Given the description of an element on the screen output the (x, y) to click on. 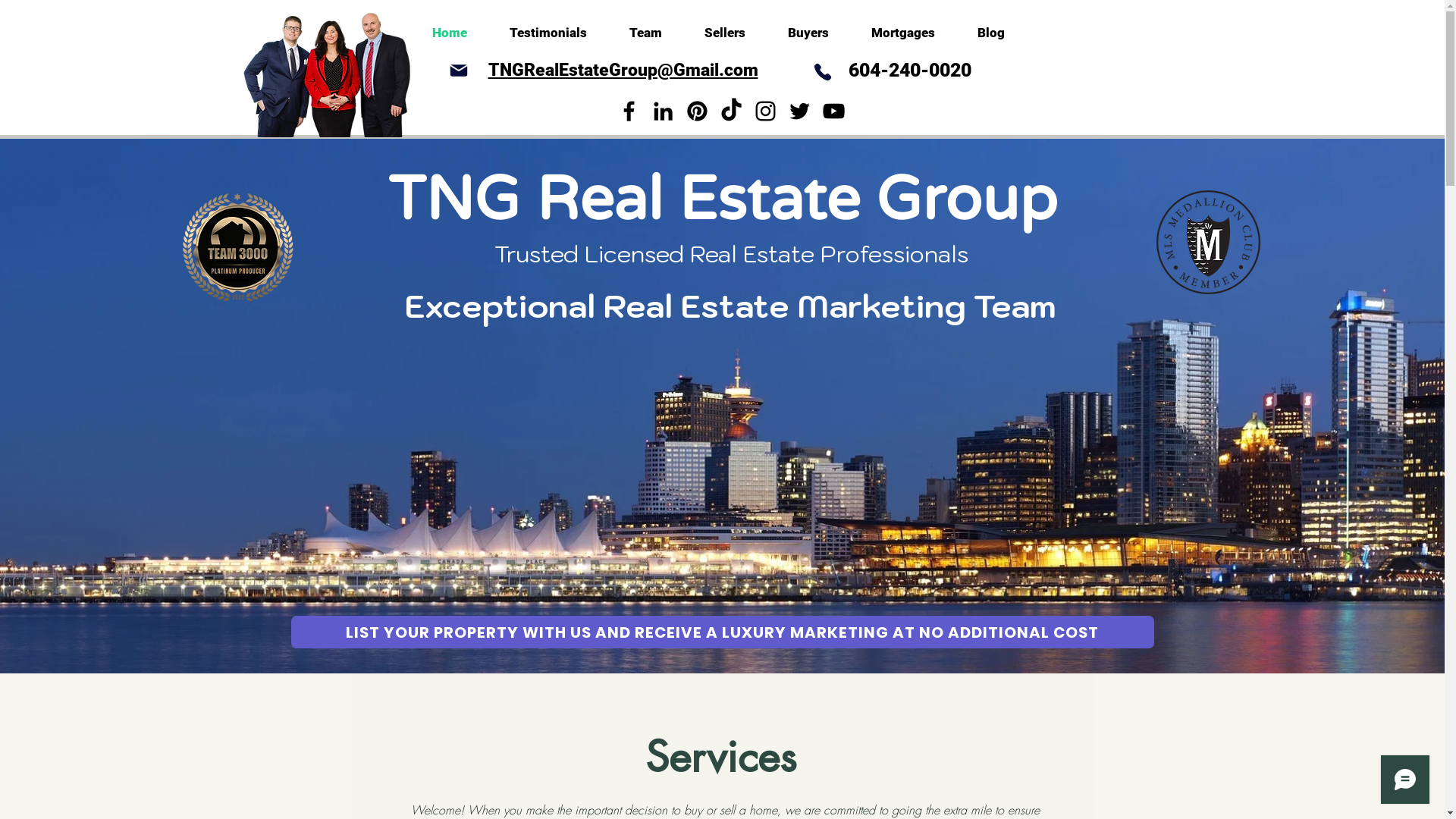
TNGRealEstateGroup@Gmail.com Element type: text (623, 69)
Team Element type: text (645, 32)
Testimonials Element type: text (548, 32)
Buyers Element type: text (807, 32)
Sellers Element type: text (723, 32)
Home Element type: text (449, 32)
Blog Element type: text (990, 32)
Mortgages Element type: text (902, 32)
